Given the description of an element on the screen output the (x, y) to click on. 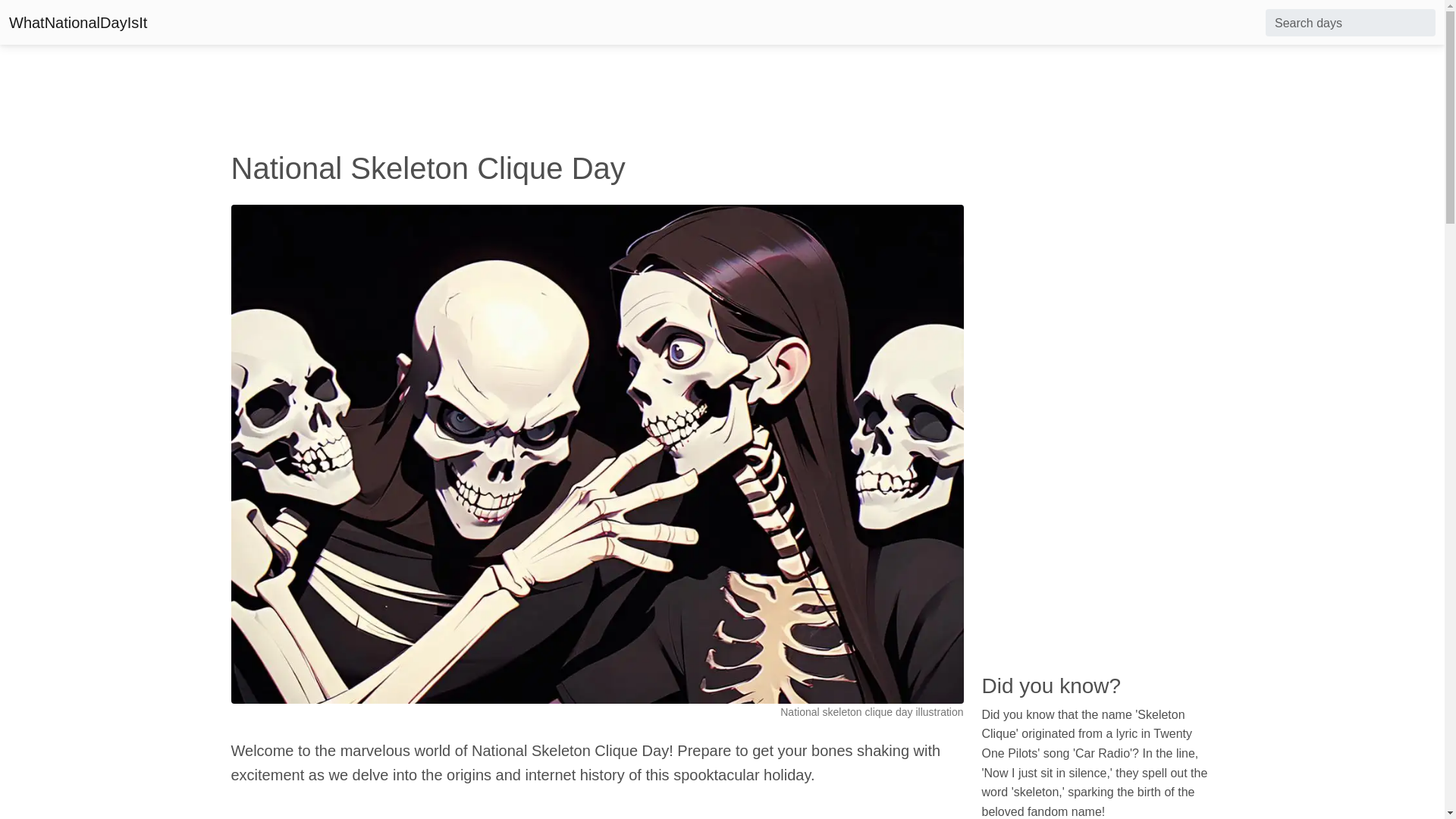
WhatNationalDayIsIt (77, 22)
